Given the description of an element on the screen output the (x, y) to click on. 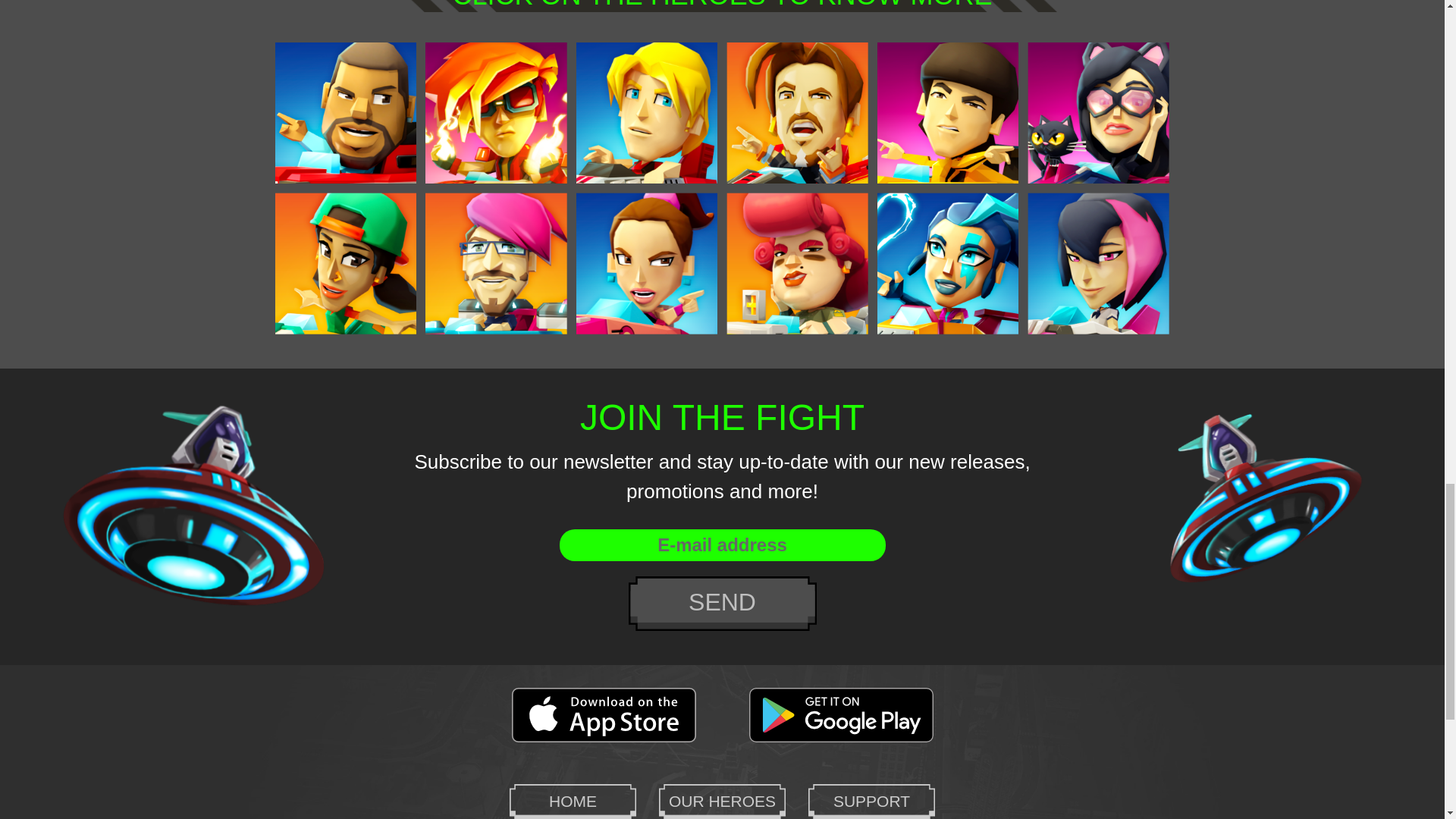
HOME (572, 801)
SEND (721, 603)
OUR HEROES (722, 801)
SUPPORT (871, 801)
